Given the description of an element on the screen output the (x, y) to click on. 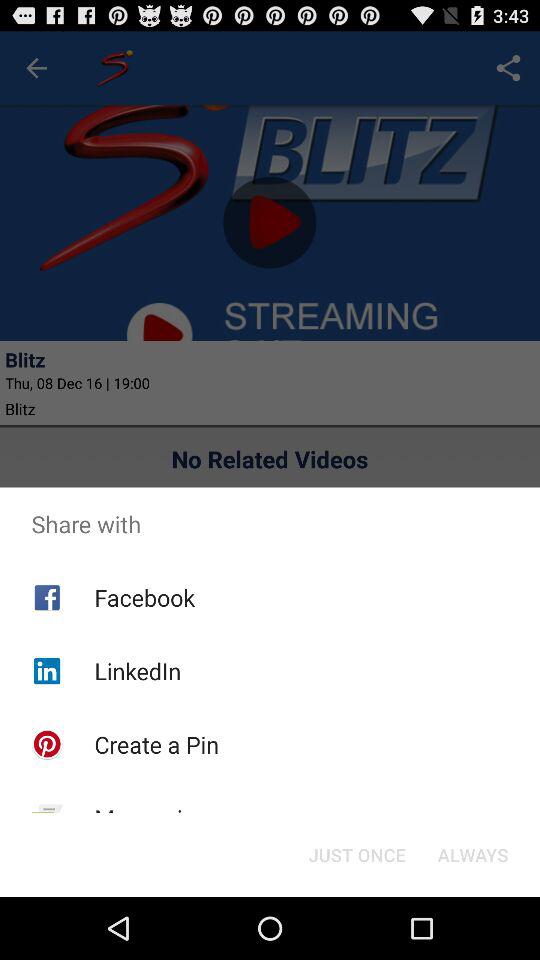
turn on the android beam app (168, 885)
